Given the description of an element on the screen output the (x, y) to click on. 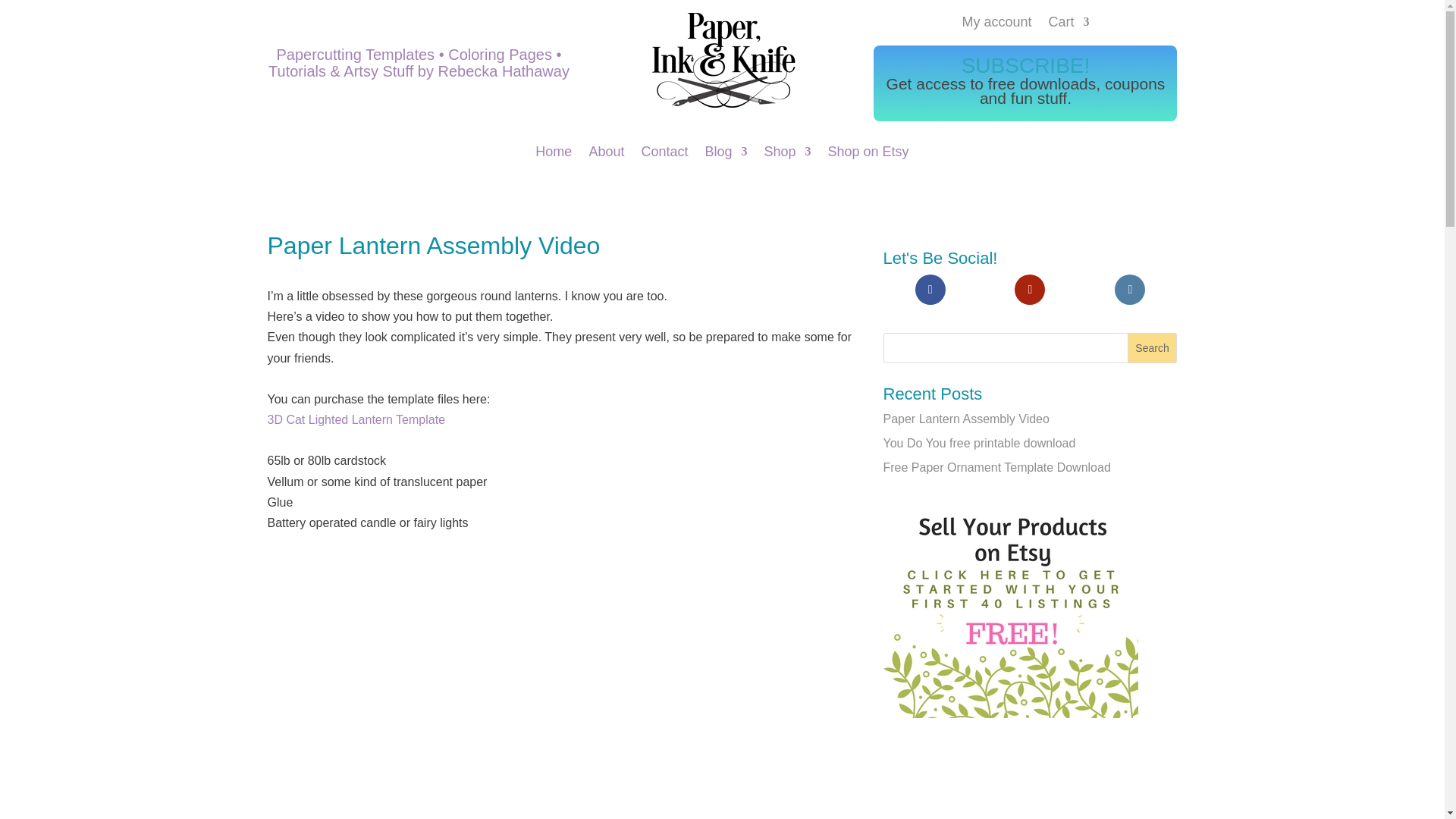
Contact (663, 154)
Search (1151, 347)
Blog (725, 154)
Cart (1068, 24)
Home (553, 154)
My account (995, 24)
Shop on Etsy (868, 154)
About (606, 154)
paper-ink-knife-logo200 (721, 60)
Shop (787, 154)
